Given the description of an element on the screen output the (x, y) to click on. 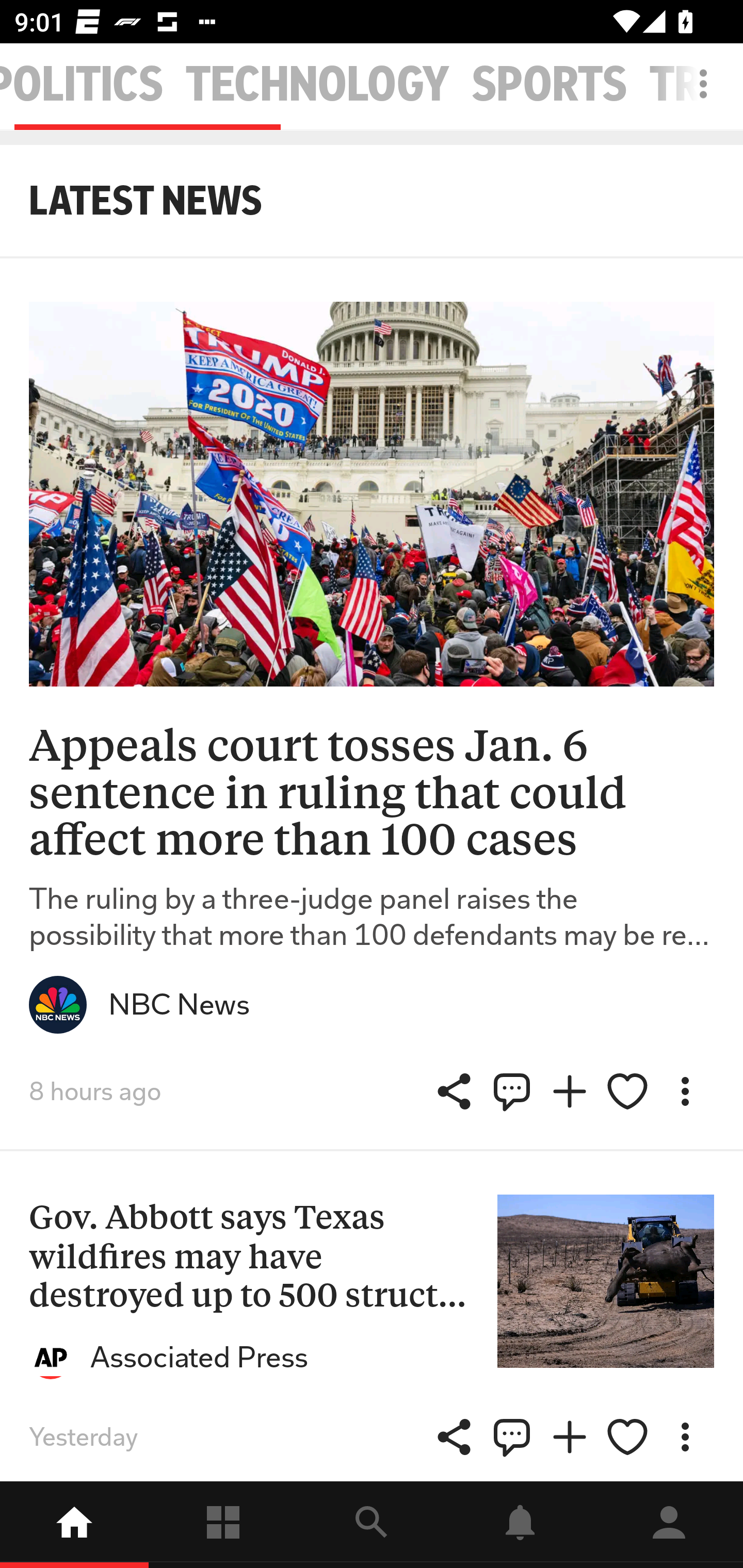
TECHNOLOGY (317, 84)
SPORTS (549, 84)
Edit Home (697, 83)
Share (453, 1091)
Share (511, 1091)
Flip into Magazine (569, 1091)
Like (627, 1091)
Options (685, 1091)
Share (453, 1437)
Share (511, 1437)
Flip into Magazine (569, 1437)
Like (627, 1437)
Options (685, 1437)
home (74, 1524)
Following (222, 1524)
explore (371, 1524)
Notifications (519, 1524)
Profile (668, 1524)
